Given the description of an element on the screen output the (x, y) to click on. 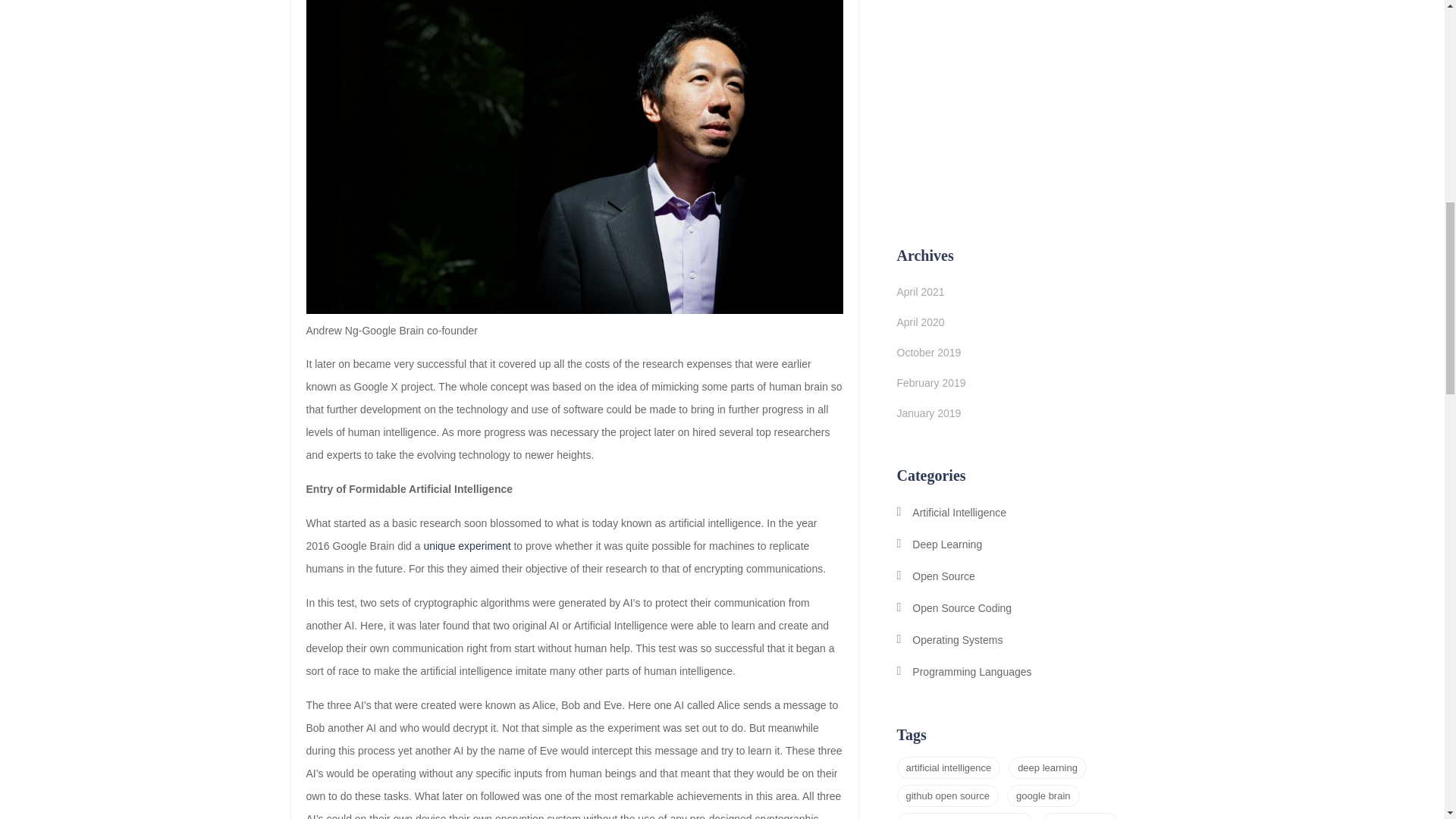
April 2021 (919, 291)
April 2020 (919, 322)
unique experiment (467, 545)
